Given the description of an element on the screen output the (x, y) to click on. 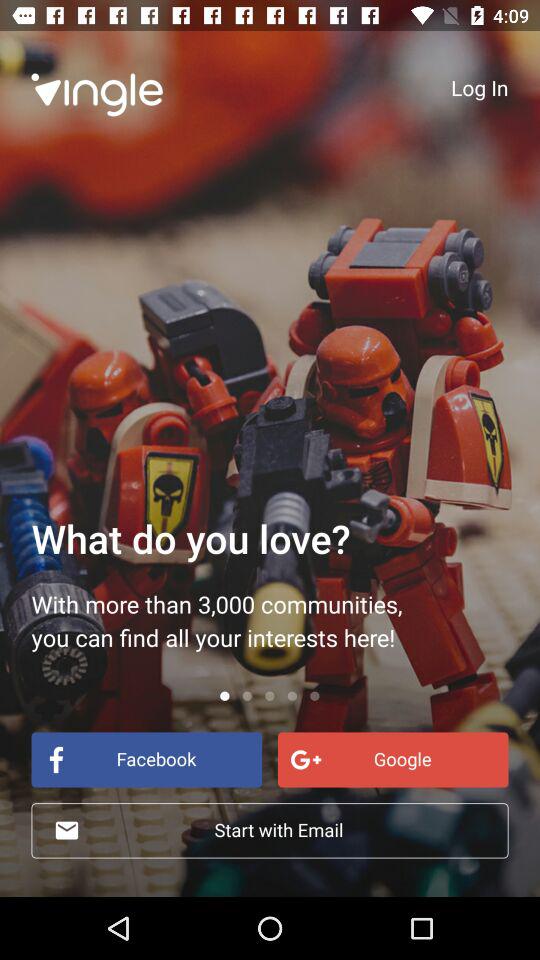
select google icon (392, 759)
